Given the description of an element on the screen output the (x, y) to click on. 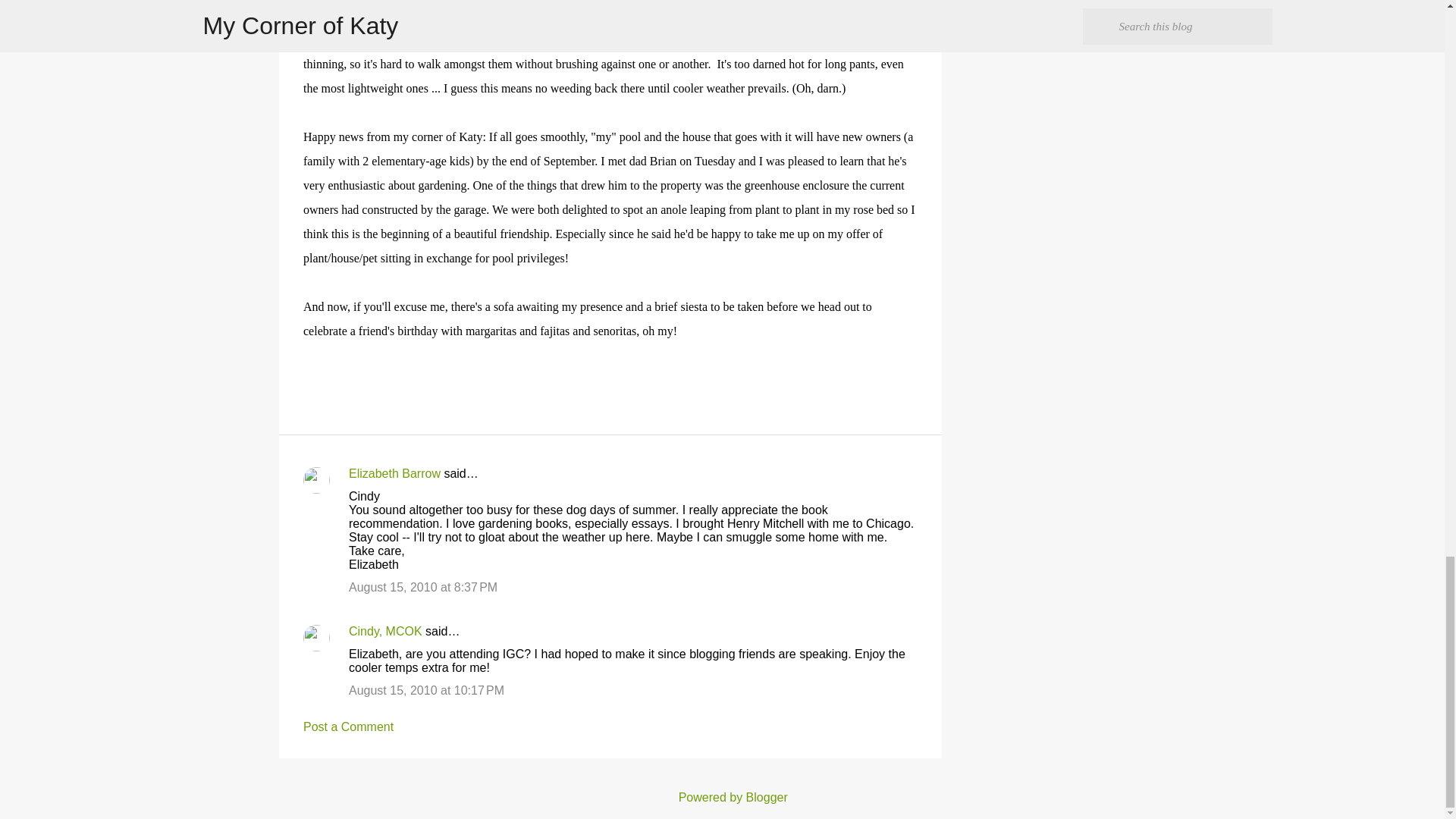
Cindy, MCOK (385, 631)
comment permalink (423, 586)
Elizabeth Barrow (395, 472)
Post a Comment (347, 726)
Powered by Blogger (721, 797)
